Given the description of an element on the screen output the (x, y) to click on. 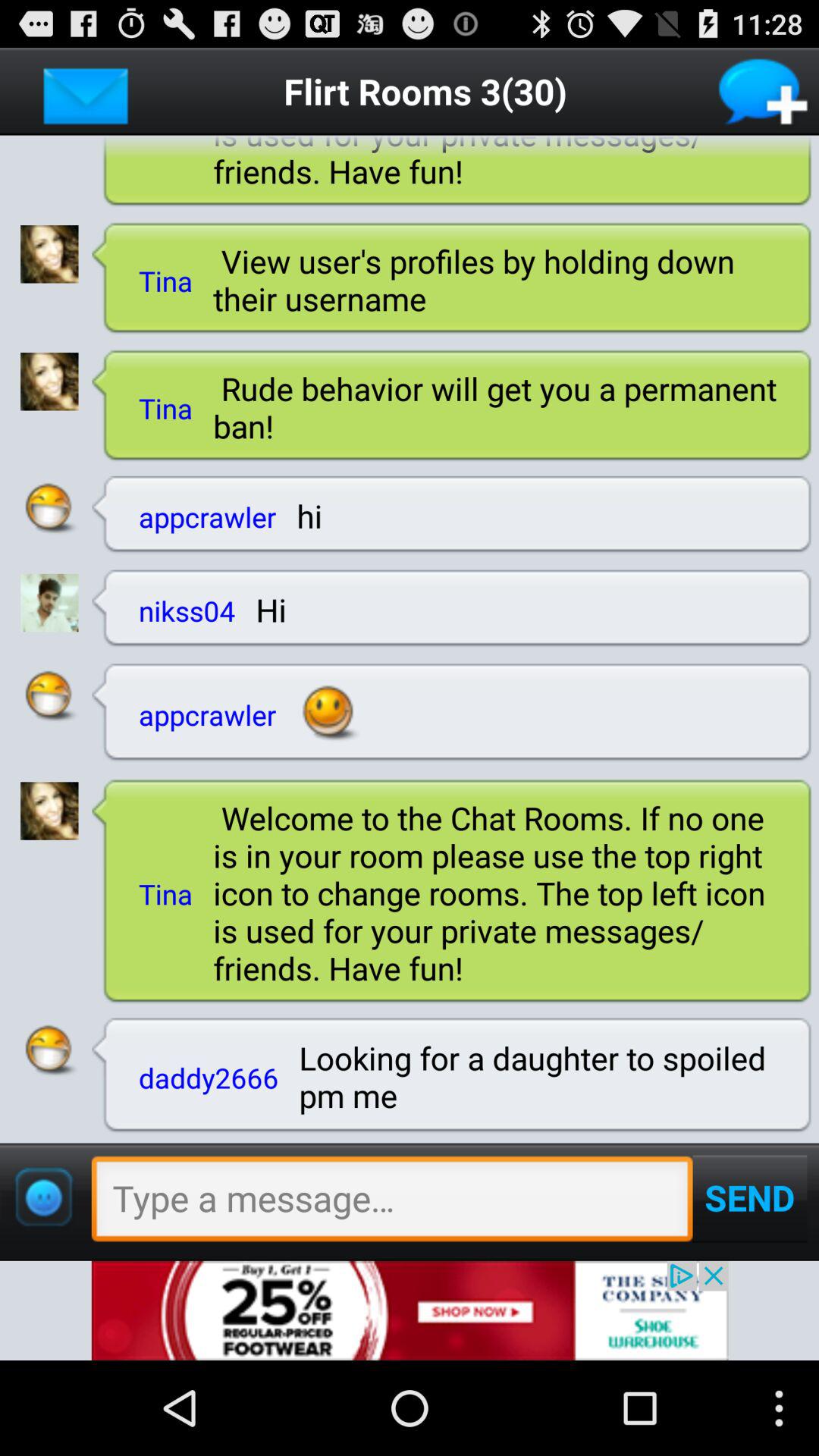
open inbox (86, 91)
